Given the description of an element on the screen output the (x, y) to click on. 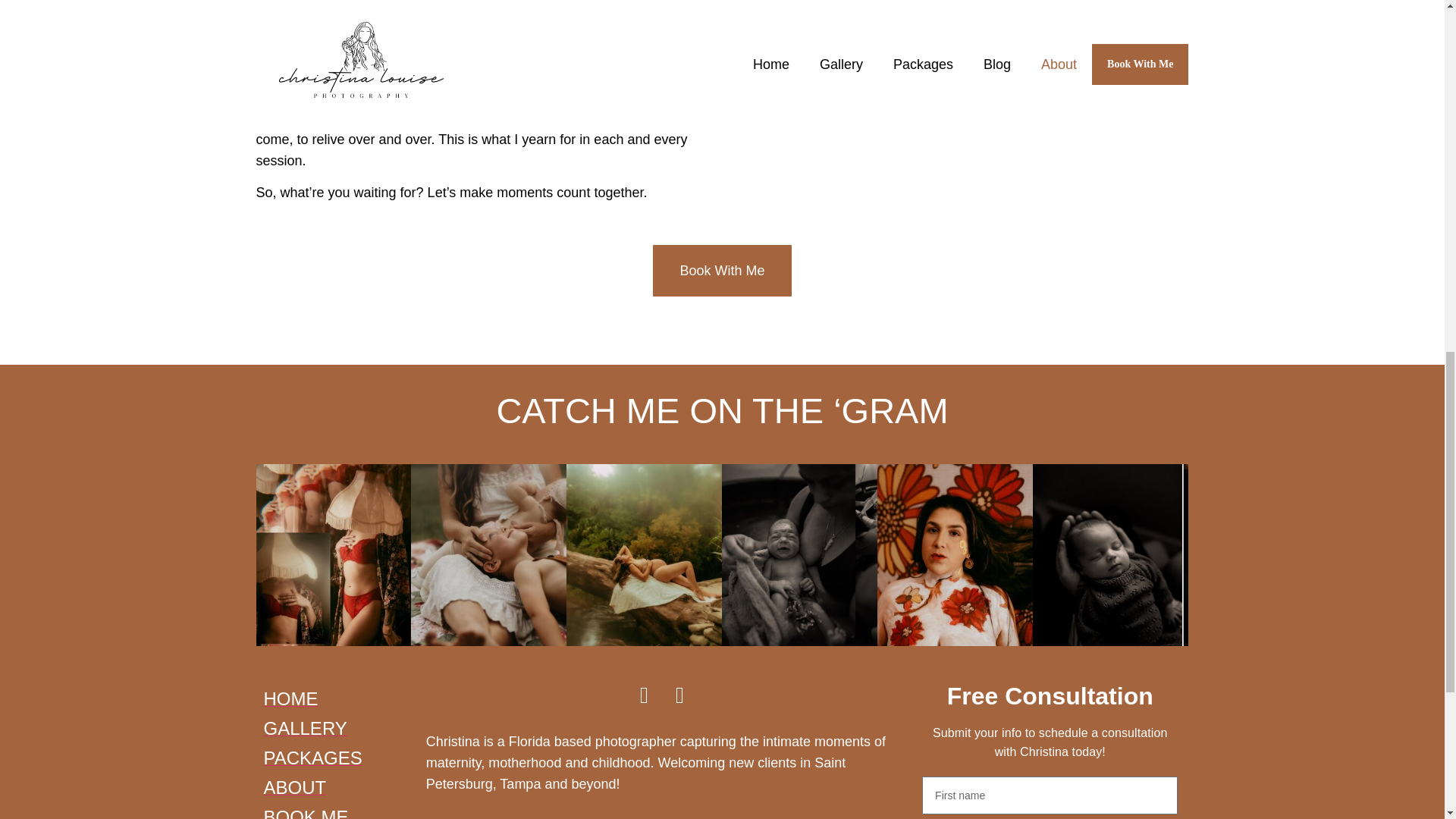
Book With Me (721, 270)
GALLERY (336, 727)
HOME (336, 698)
BOOK ME (336, 810)
ABOUT (336, 787)
PACKAGES (336, 757)
